Given the description of an element on the screen output the (x, y) to click on. 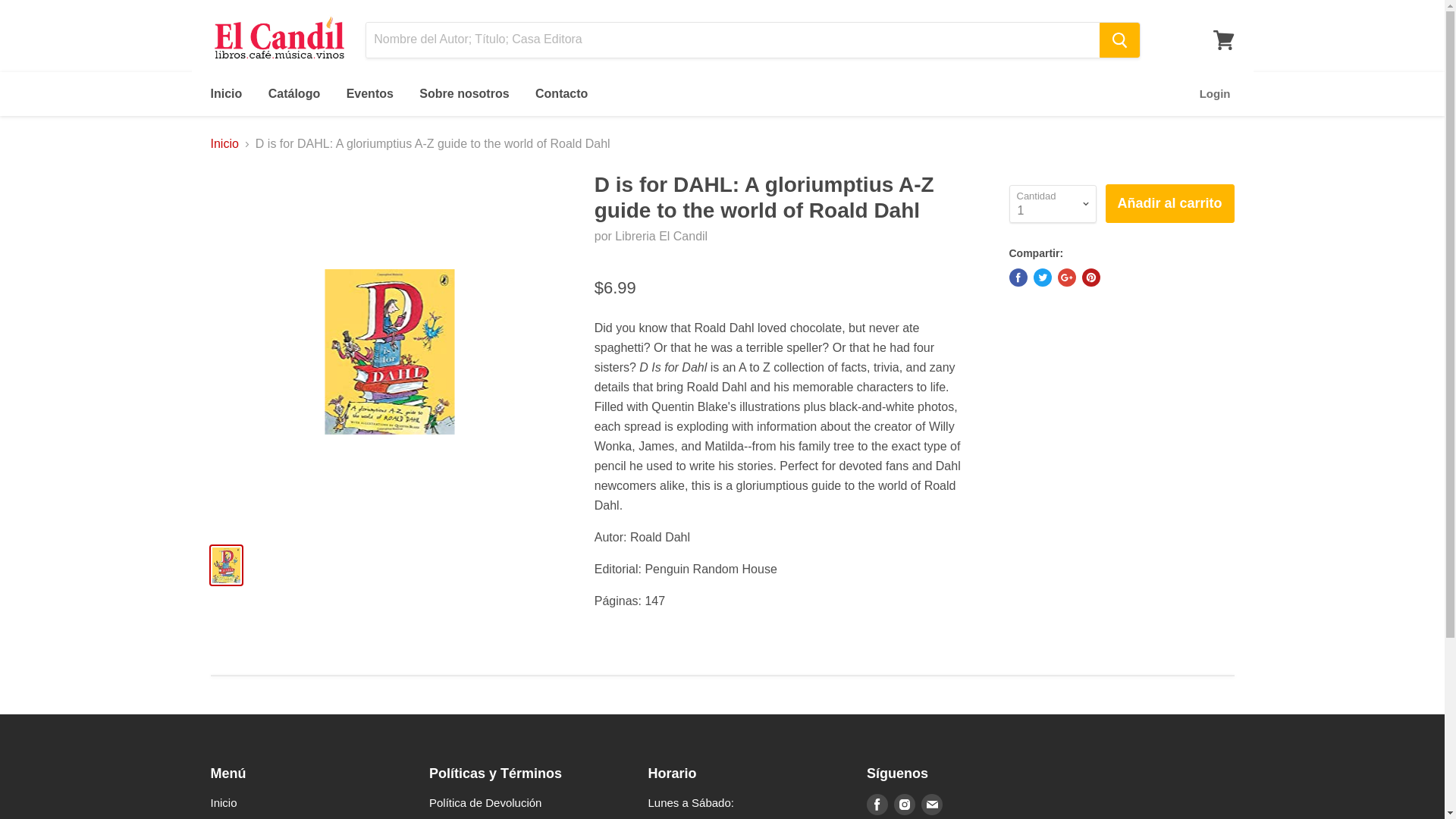
Tuitear en Twitter (1041, 277)
Ver carrito (1223, 39)
Instagram (904, 804)
Sobre nosotros (463, 93)
Contacto (561, 93)
Inicio (225, 93)
E-mail (931, 804)
Compartir en Facebook (1017, 277)
Hacer Pin en Pinterest (1090, 277)
Eventos (369, 93)
